Given the description of an element on the screen output the (x, y) to click on. 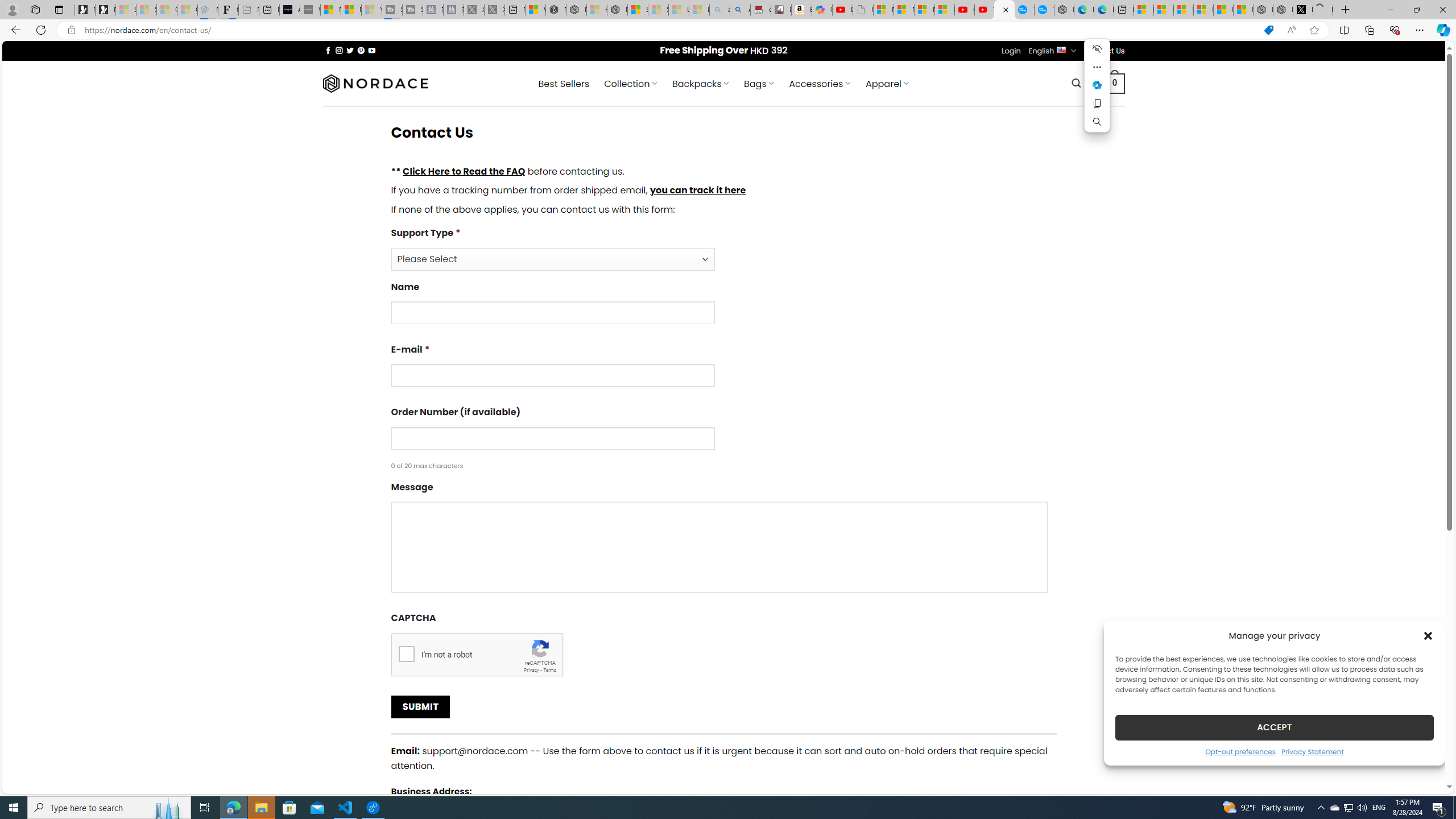
Privacy (530, 669)
Copilot (821, 9)
